Given the description of an element on the screen output the (x, y) to click on. 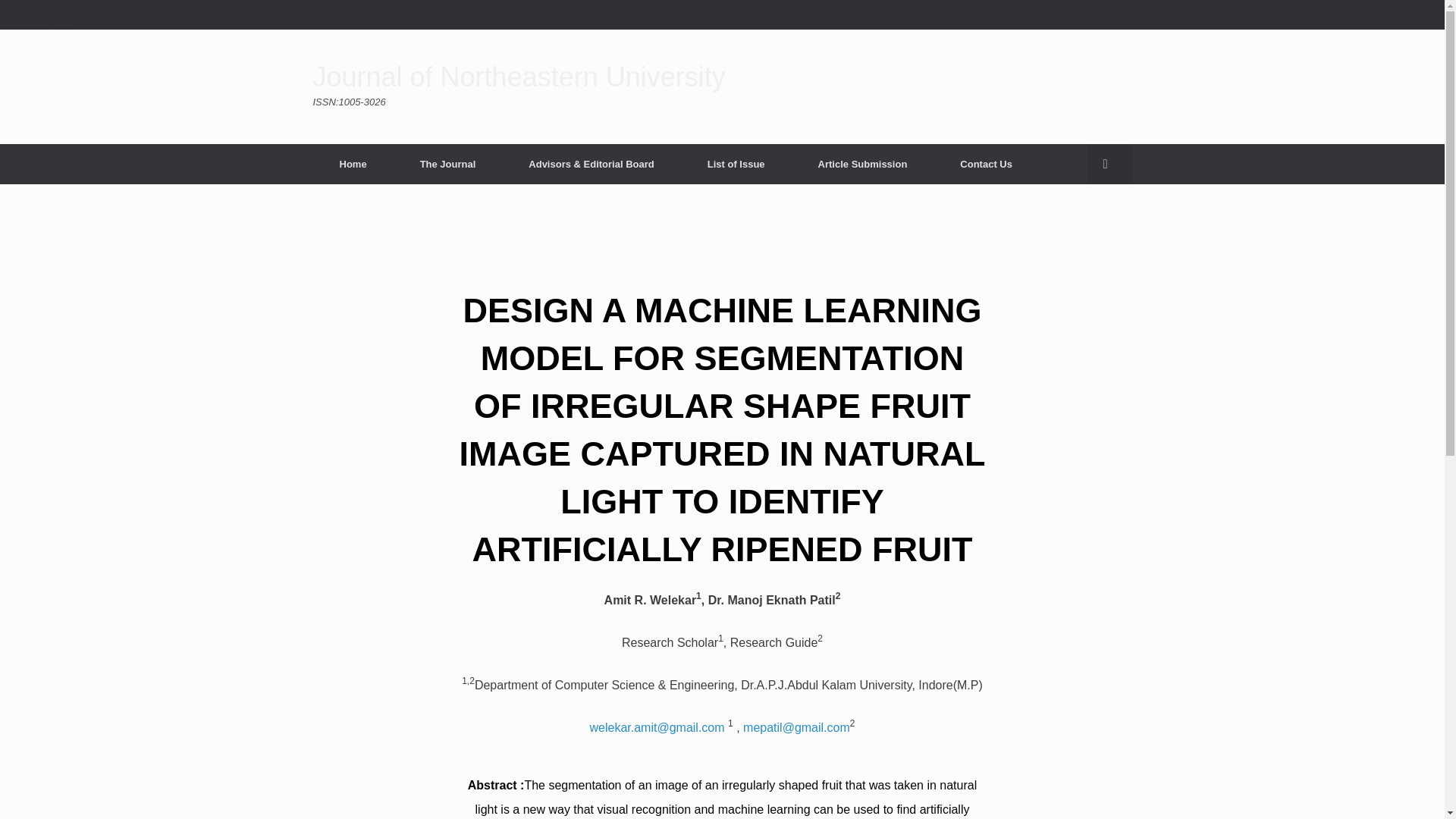
Article Submission (863, 164)
Home (353, 164)
Journal of Northeastern University (519, 76)
List of Issue (736, 164)
Contact Us (986, 164)
The Journal (447, 164)
Journal of Northeastern University (519, 76)
